Given the description of an element on the screen output the (x, y) to click on. 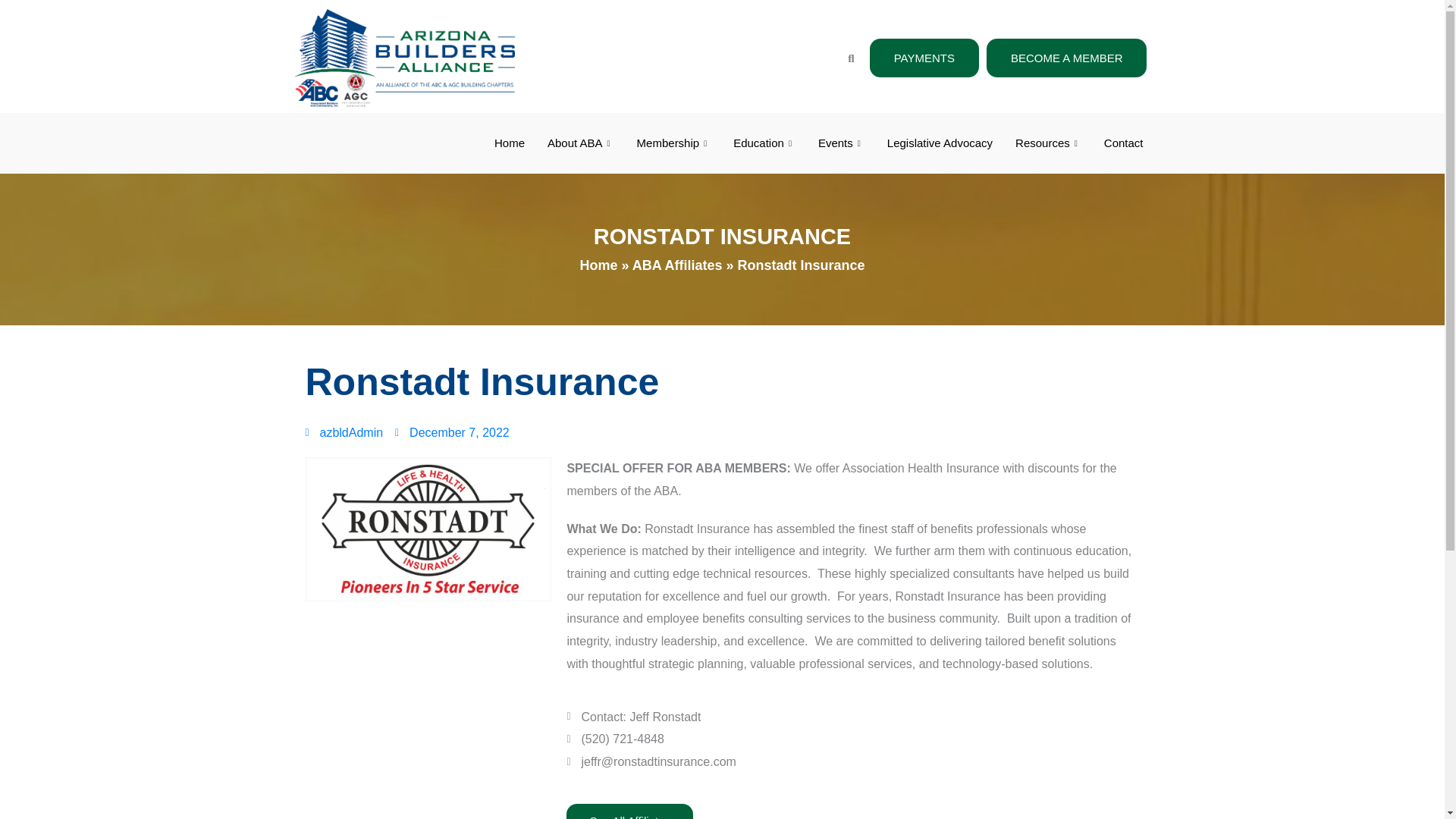
BECOME A MEMBER (1067, 57)
PAYMENTS (923, 57)
About ABA (580, 143)
Membership (674, 143)
Search (845, 58)
